Given the description of an element on the screen output the (x, y) to click on. 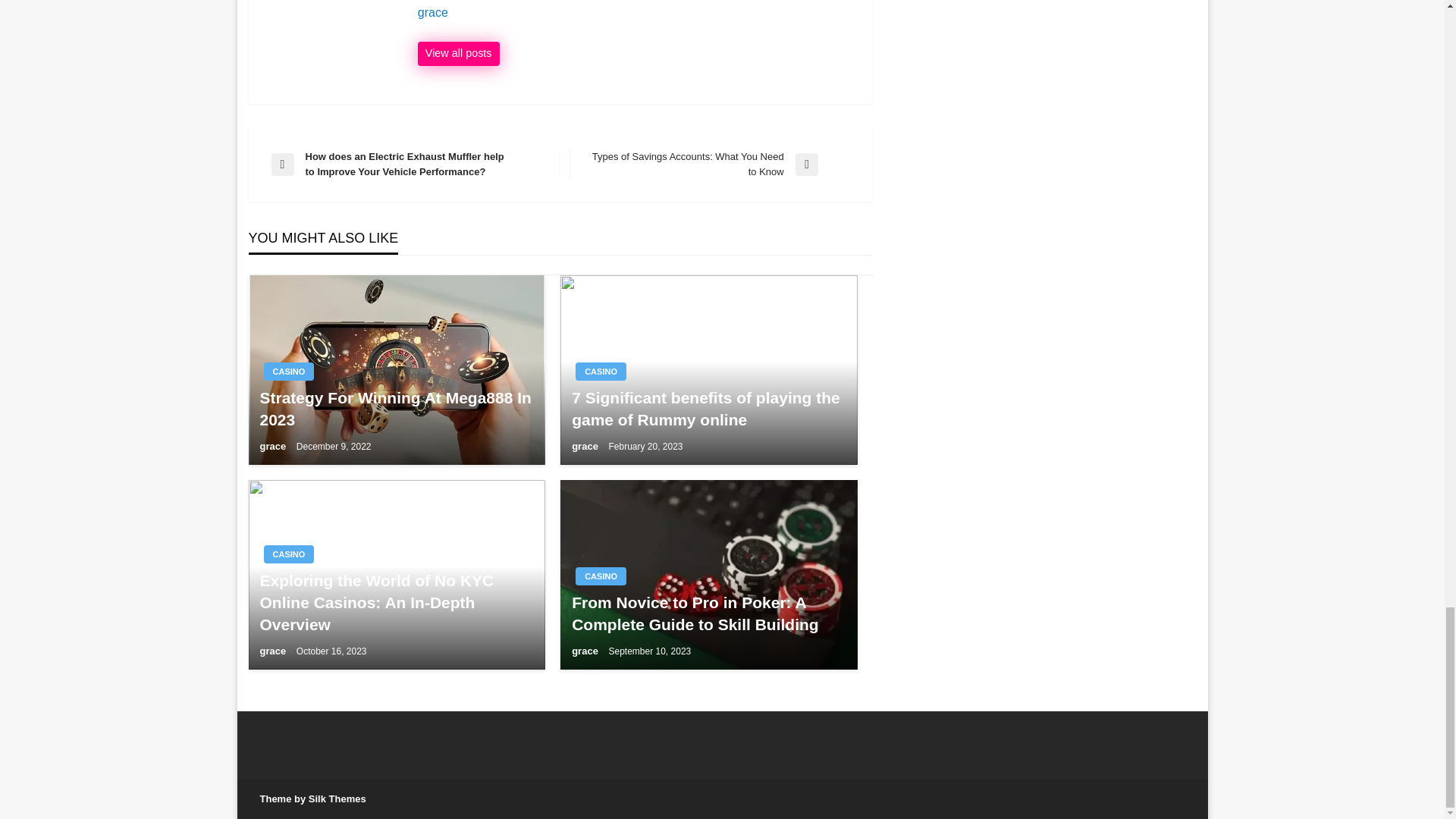
grace (458, 53)
grace (637, 12)
grace (637, 12)
grace (585, 446)
grace (273, 446)
CASINO (288, 371)
CASINO (600, 371)
View all posts (458, 53)
Strategy For Winning At Mega888 In 2023 (396, 408)
CASINO (288, 554)
7 Significant benefits of playing the game of Rummy online (709, 164)
grace (708, 408)
